Given the description of an element on the screen output the (x, y) to click on. 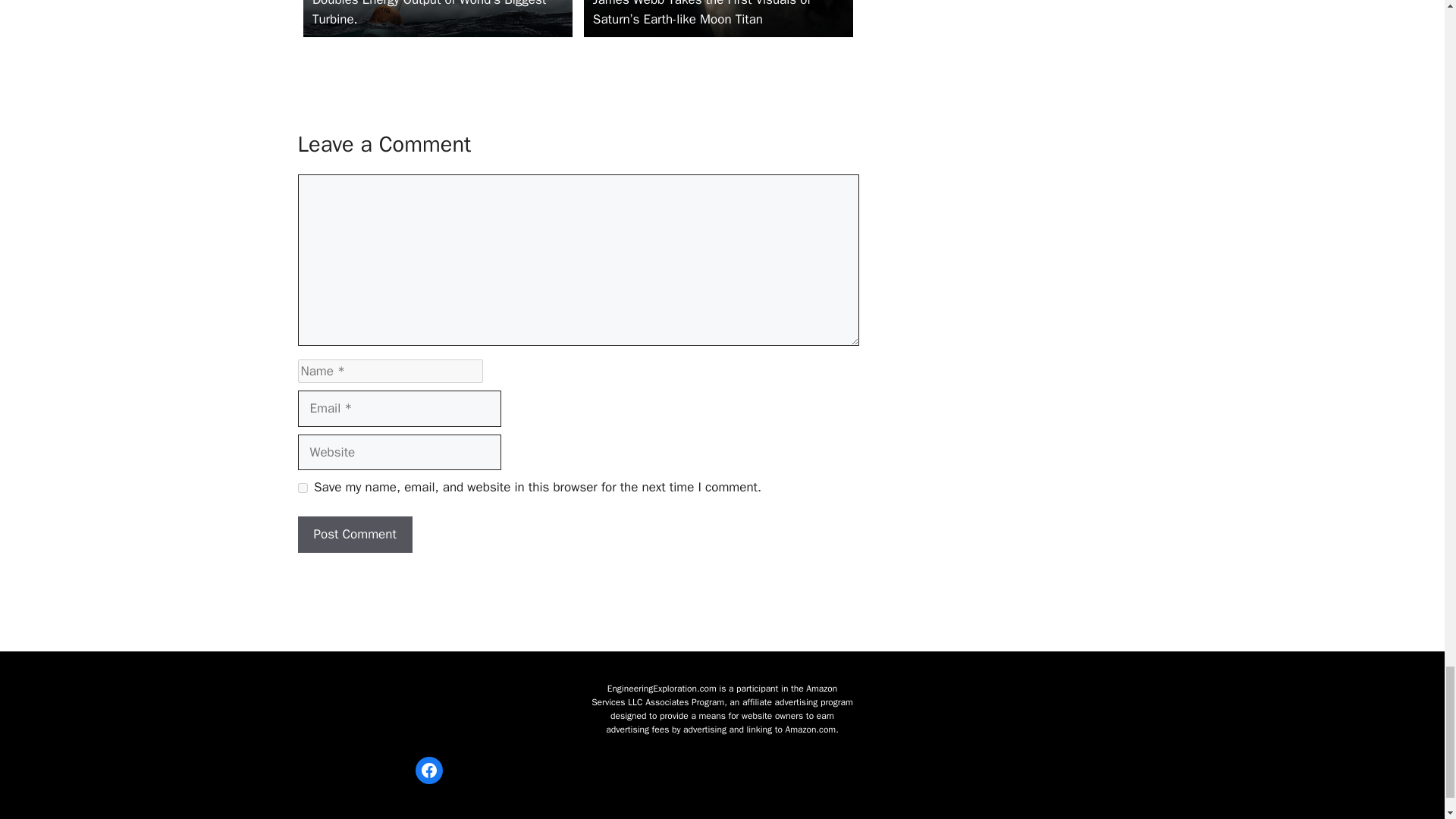
Post Comment (354, 534)
yes (302, 488)
Engineering X Logo Mobile (428, 707)
